Given the description of an element on the screen output the (x, y) to click on. 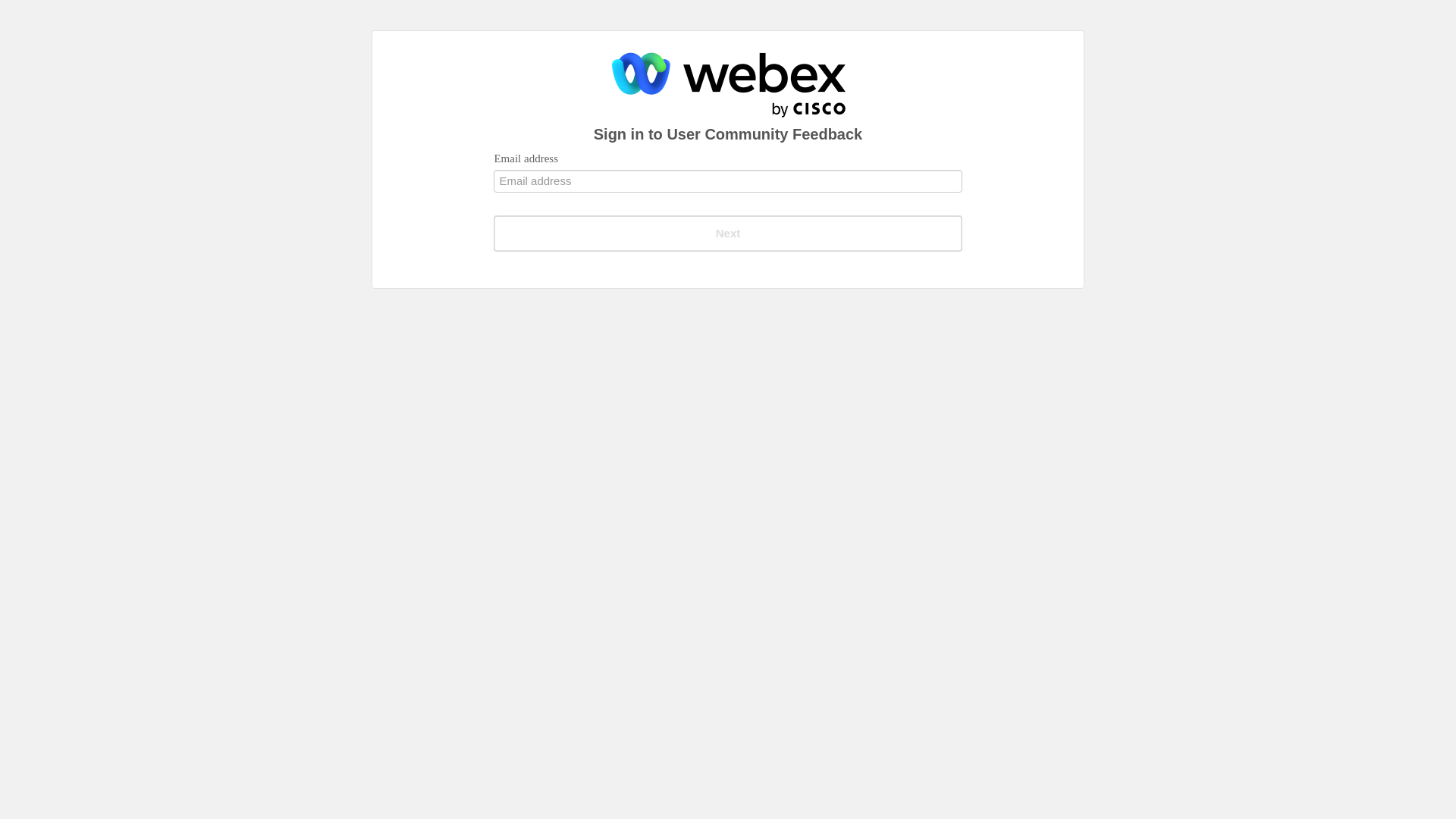
Next (726, 233)
Next (726, 233)
